Given the description of an element on the screen output the (x, y) to click on. 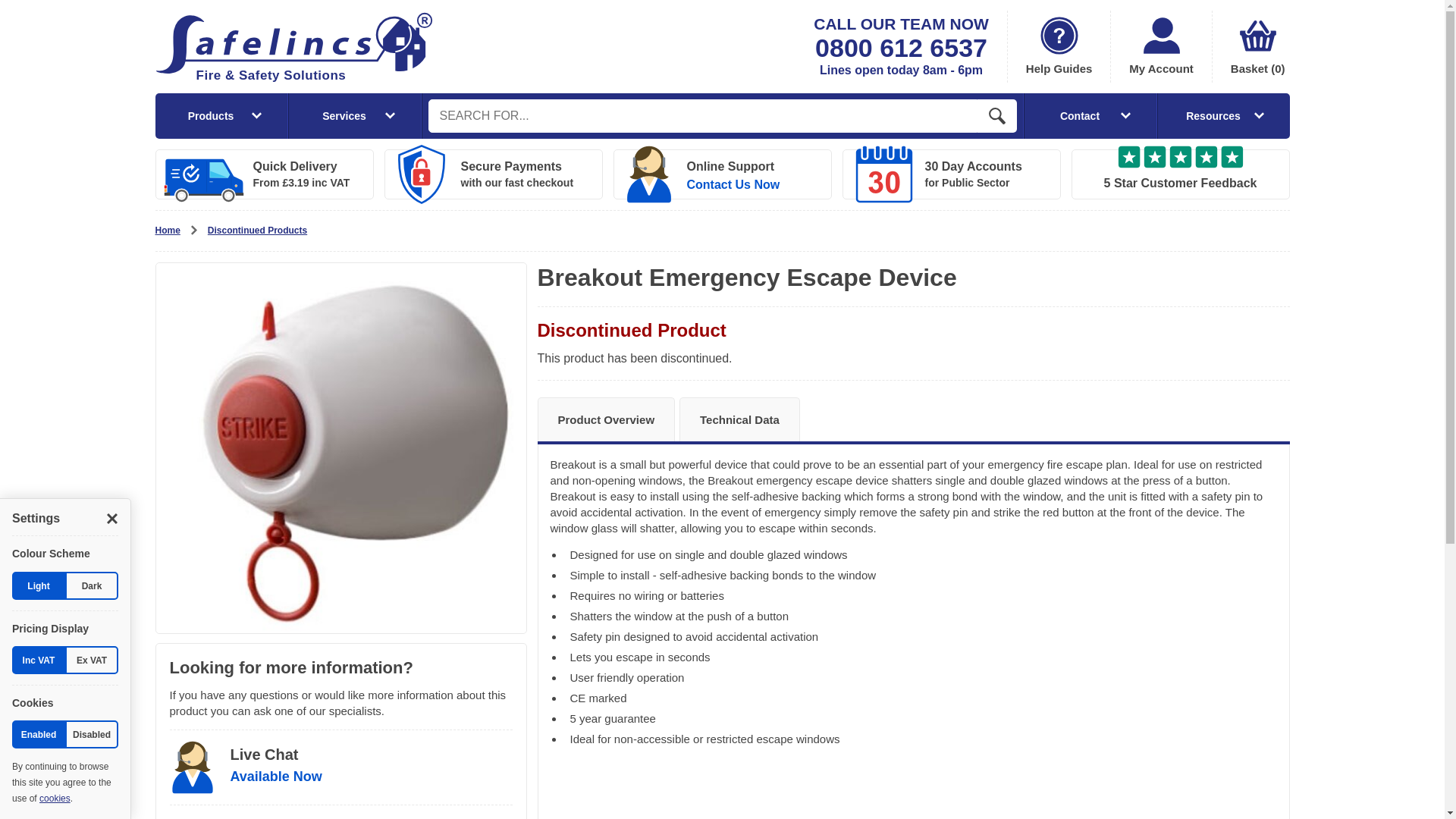
0800 612 6537 (900, 48)
Resources (1223, 115)
My Account (1160, 46)
Contact Us (721, 174)
Contact (1090, 115)
Products (220, 115)
Help Guides (1058, 46)
30 Day Credit Accounts (950, 174)
1000s of happy customers - see our 5 star customer feedback (1179, 174)
My Account (1160, 46)
